Given the description of an element on the screen output the (x, y) to click on. 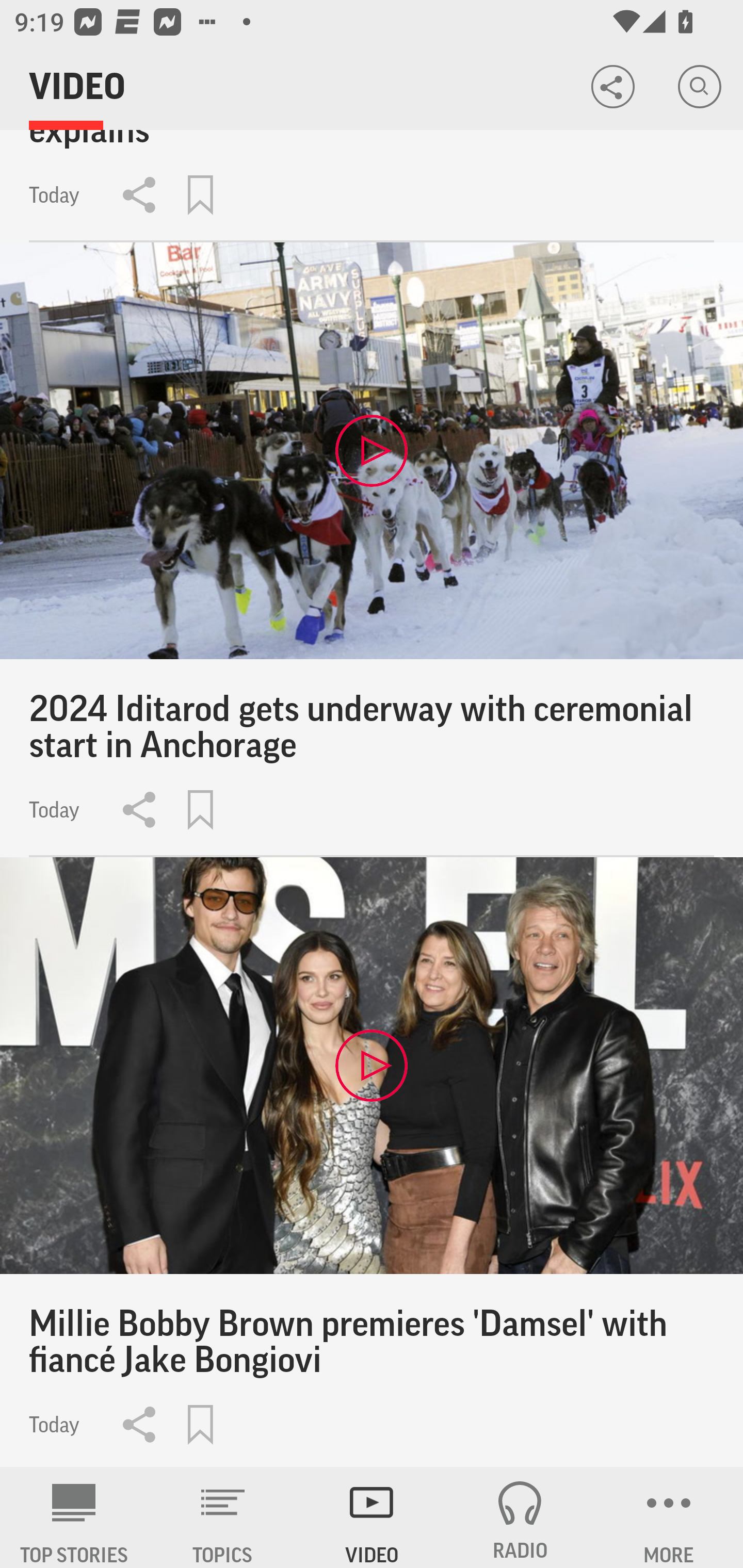
AP News TOP STORIES (74, 1517)
TOPICS (222, 1517)
VIDEO (371, 1517)
RADIO (519, 1517)
MORE (668, 1517)
